Given the description of an element on the screen output the (x, y) to click on. 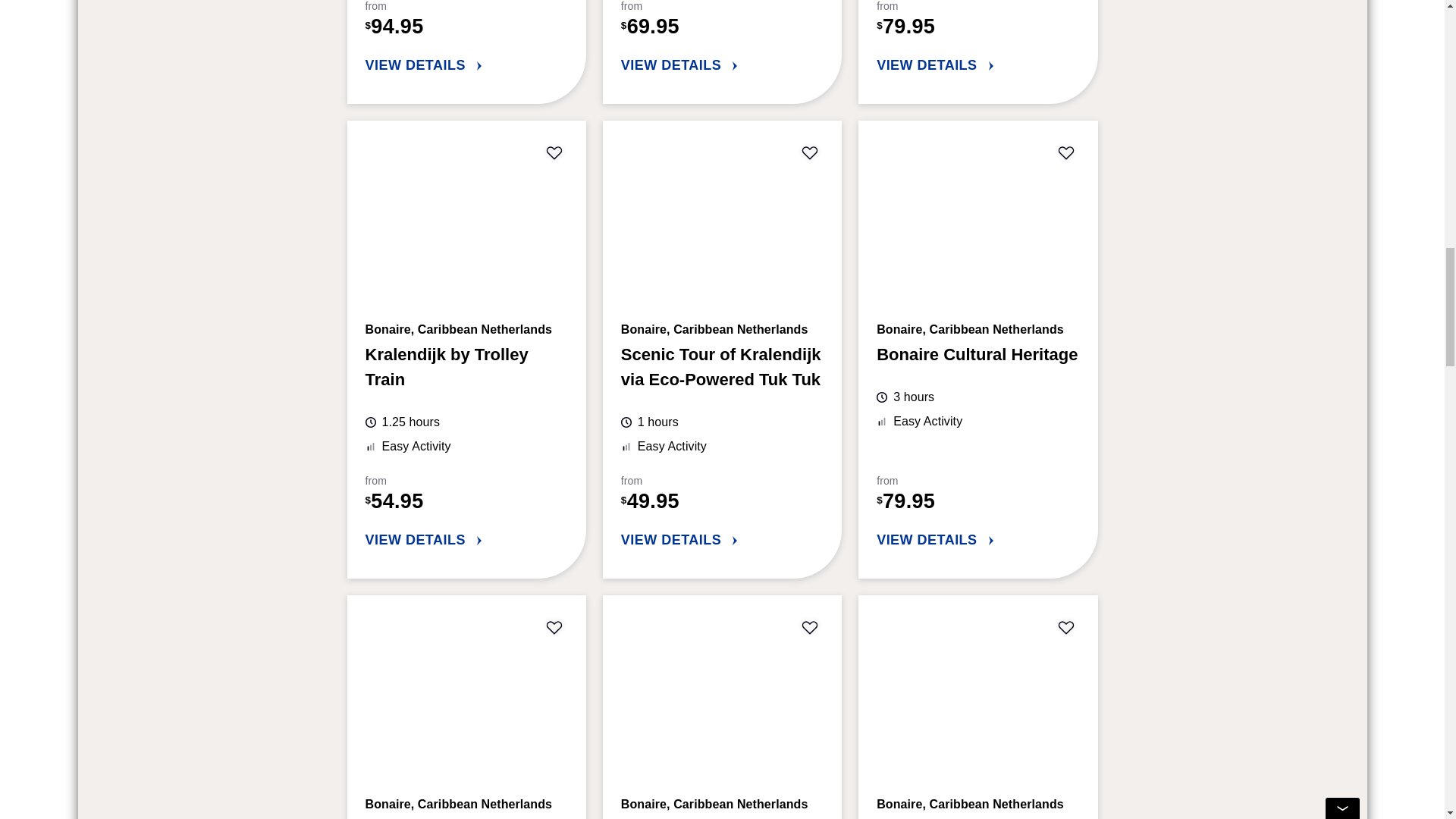
VIEW DETAILS (722, 65)
VIEW DETAILS (977, 540)
VIEW DETAILS (466, 540)
VIEW DETAILS (977, 65)
VIEW DETAILS (722, 540)
VIEW DETAILS (466, 65)
